Given the description of an element on the screen output the (x, y) to click on. 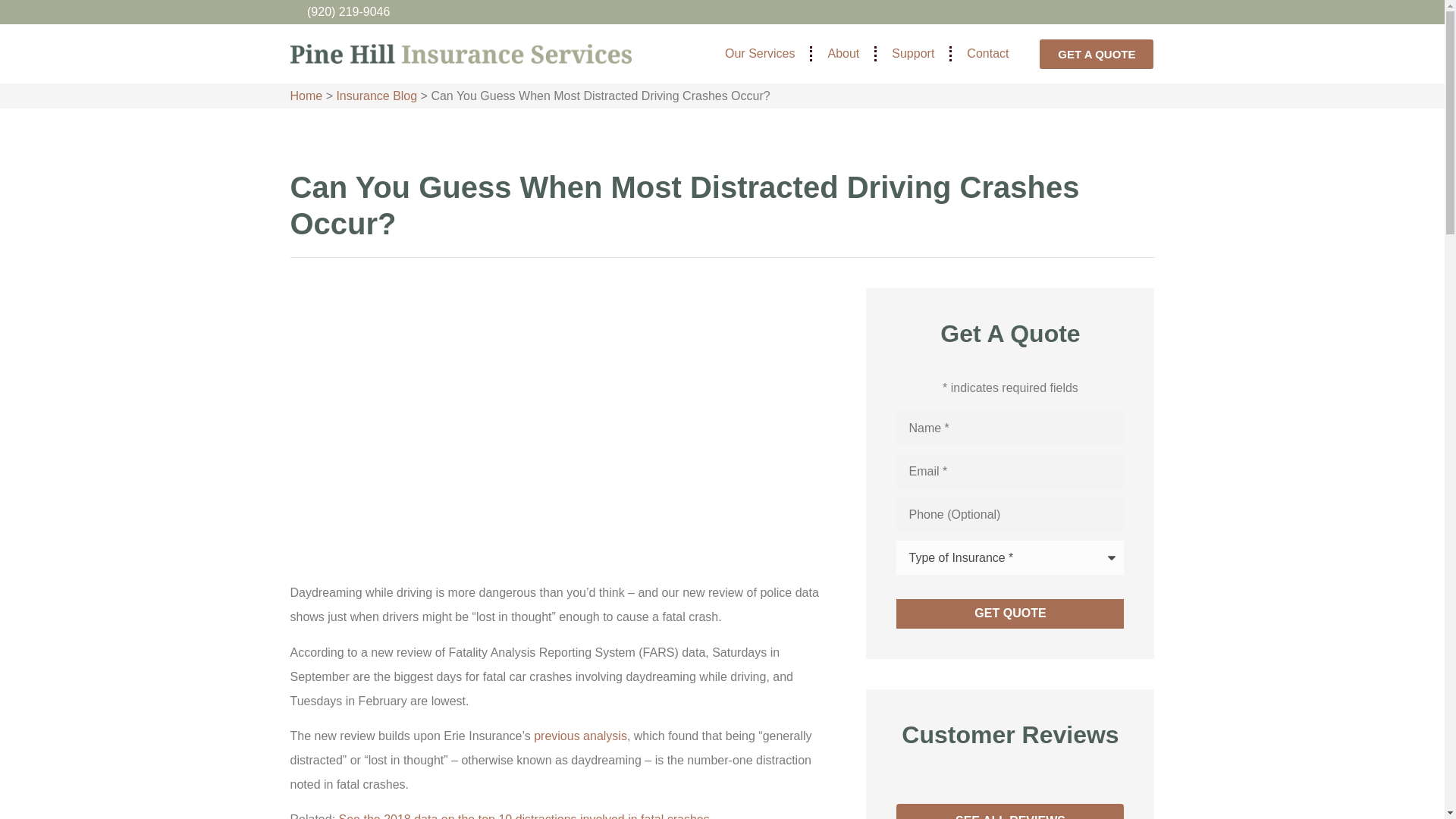
Pine Hill Insurance Services (459, 53)
About (843, 53)
Get Quote (1010, 613)
Our Services (759, 53)
